Given the description of an element on the screen output the (x, y) to click on. 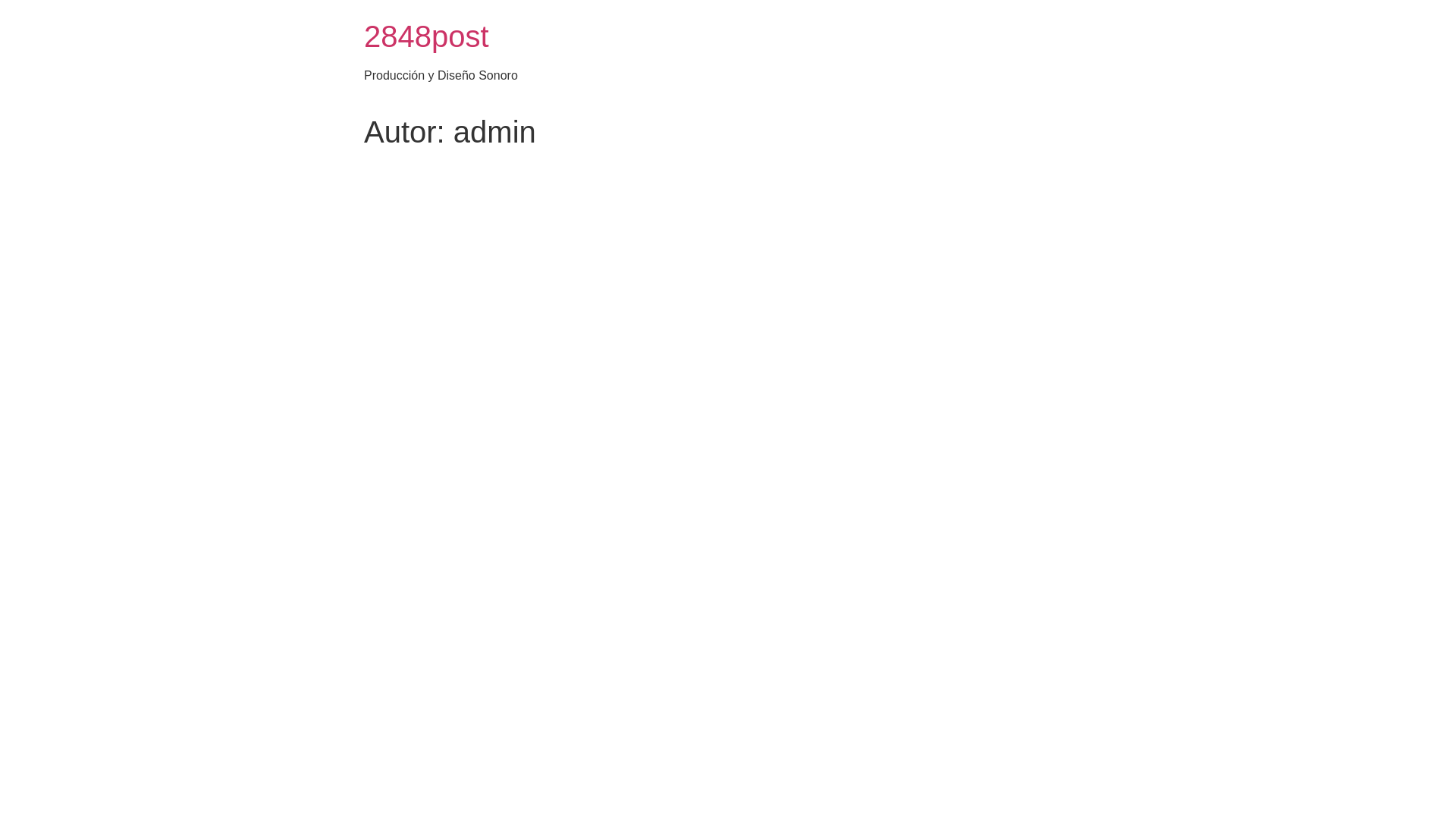
2848post Element type: text (426, 36)
